Given the description of an element on the screen output the (x, y) to click on. 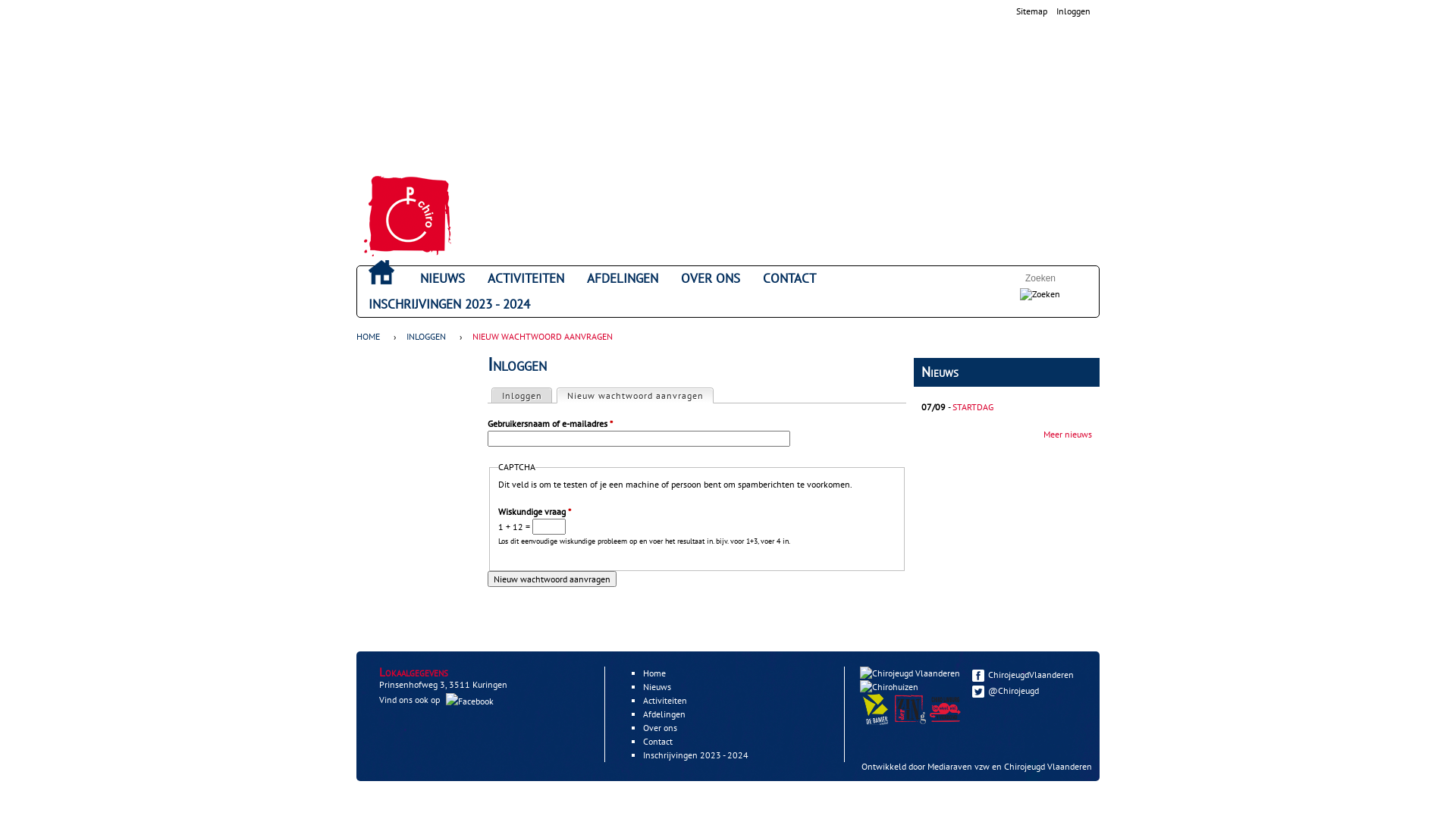
Nieuw wachtwoord aanvragen Element type: text (551, 578)
Facebook Element type: hover (469, 701)
Activiteiten Element type: text (665, 700)
De Banier Element type: hover (876, 721)
Meer nieuws Element type: text (1067, 433)
AFDELINGEN Element type: text (622, 278)
Home Element type: hover (407, 215)
OVER ONS Element type: text (710, 278)
@Chirojeugd Element type: text (1028, 690)
Inschrijvingen 2023 - 2024 Element type: text (695, 754)
Mediaraven vzw Element type: text (958, 765)
Afdelingen Element type: text (664, 713)
NIEUWS Element type: text (442, 278)
Sitemap Element type: text (1031, 10)
De Banier Element type: hover (875, 708)
HOME Element type: text (381, 272)
INSCHRIJVINGEN 2023 - 2024 Element type: text (449, 304)
Twitter Element type: hover (978, 691)
ACTIVITEITEN Element type: text (525, 278)
Verbond Limburg Element type: hover (944, 708)
ChirojeugdVlaanderen Element type: text (1028, 674)
HOME Element type: text (371, 336)
Zindering Element type: hover (946, 721)
Chirohuizen Element type: hover (888, 686)
Over ons Element type: text (660, 727)
Chirojeugd Vlaanderen Element type: text (1048, 765)
Geef de woorden op waarnaar u wilt zoeken. Element type: hover (1049, 277)
Nieuws Element type: text (657, 686)
Contact Element type: text (657, 740)
STARTDAG Element type: text (972, 406)
Zindering Element type: hover (911, 721)
Inloggen Element type: text (521, 395)
Facebook Element type: hover (978, 675)
INLOGGEN Element type: text (425, 336)
Zindering Element type: hover (909, 708)
Chirojeugd Vlaanderen Element type: hover (911, 672)
Chirojeugd Vlaanderen Element type: hover (909, 673)
Home Element type: text (654, 672)
Inloggen Element type: text (1073, 10)
CONTACT Element type: text (789, 278)
Nieuw wachtwoord aanvragen
(actieve tabblad) Element type: text (634, 395)
Chirohuizen Element type: hover (890, 686)
